Given the description of an element on the screen output the (x, y) to click on. 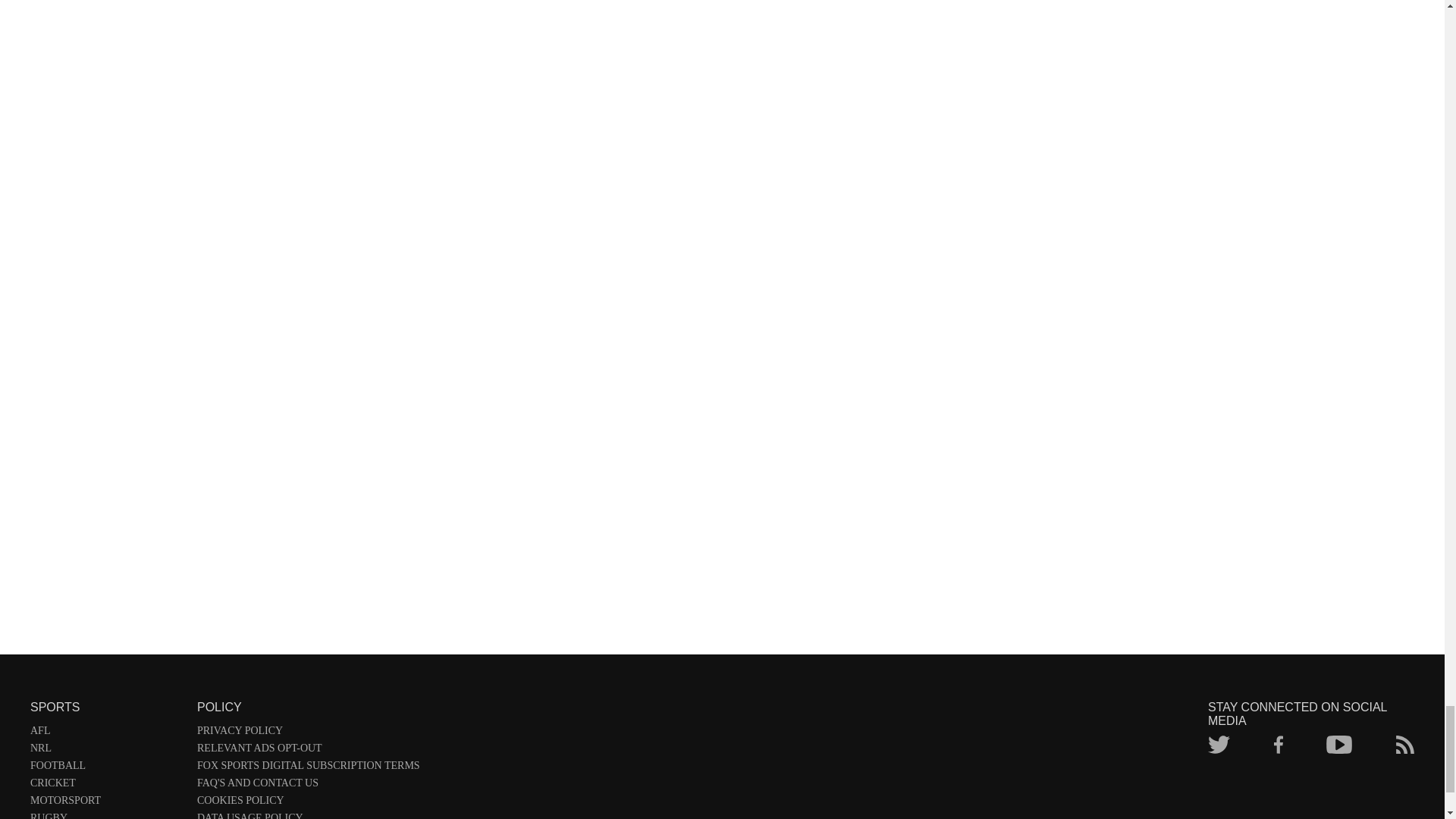
RELEVANT ADS OPT-OUT (308, 751)
NRL (106, 751)
FOX SPORTS DIGITAL SUBSCRIPTION TERMS (308, 768)
FOOTBALL (106, 768)
PRIVACY POLICY (308, 733)
RUGBY (106, 815)
COOKIES POLICY (308, 803)
MOTORSPORT (106, 803)
DATA USAGE POLICY (308, 815)
FAQ'S AND CONTACT US (308, 785)
CRICKET (106, 785)
AFL (106, 733)
